Given the description of an element on the screen output the (x, y) to click on. 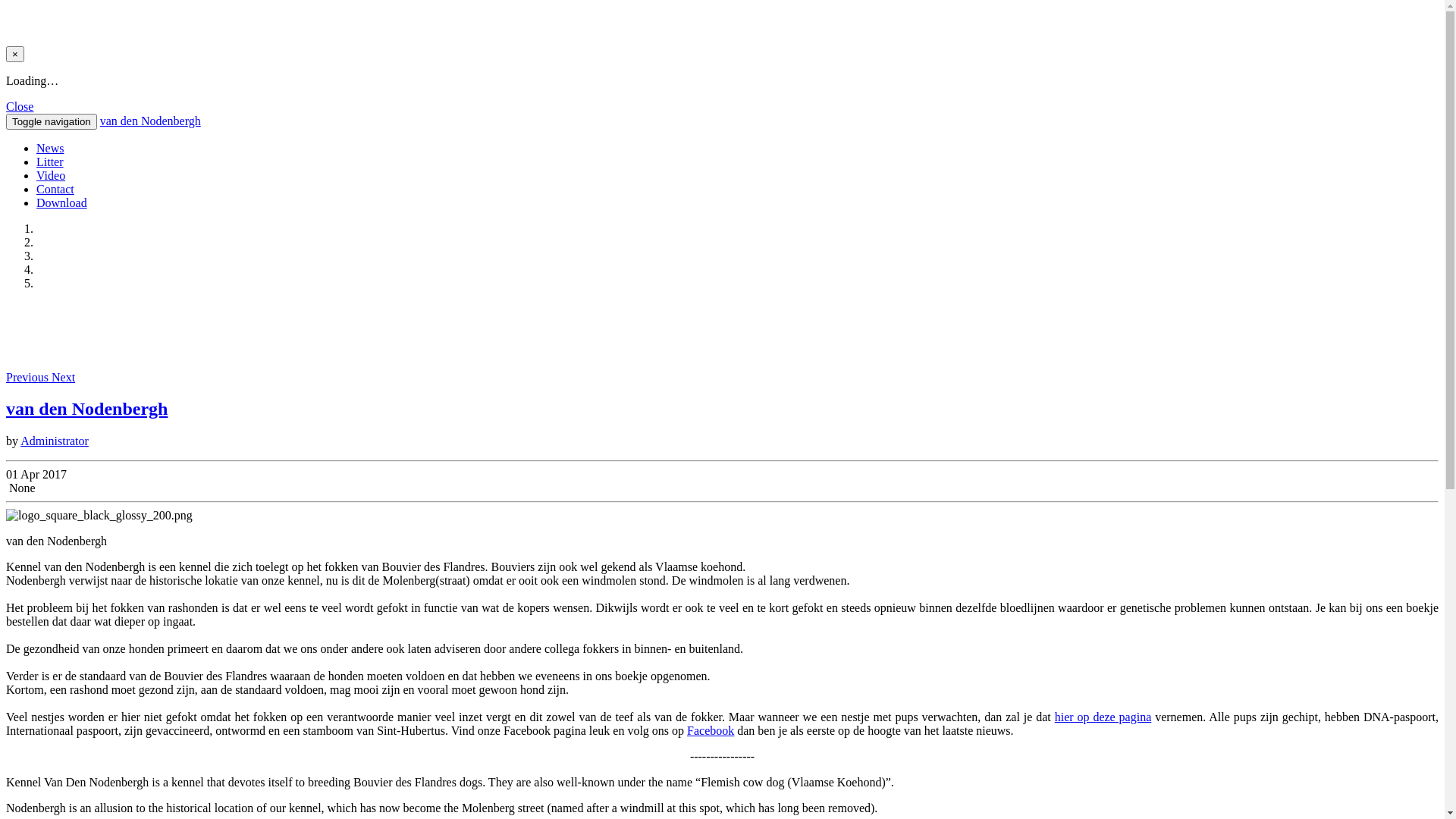
Litter Element type: text (49, 161)
Next Element type: text (63, 376)
News Element type: text (49, 147)
hier op deze pagina Element type: text (1102, 716)
van den Nodenbergh Element type: text (150, 120)
Close Element type: text (19, 106)
Video Element type: text (50, 175)
Facebook Element type: text (710, 730)
van den Nodenbergh Element type: text (86, 408)
Download Element type: text (61, 202)
Previous Element type: text (28, 376)
Contact Element type: text (55, 188)
Toggle navigation Element type: text (51, 121)
Administrator Element type: text (54, 440)
